Given the description of an element on the screen output the (x, y) to click on. 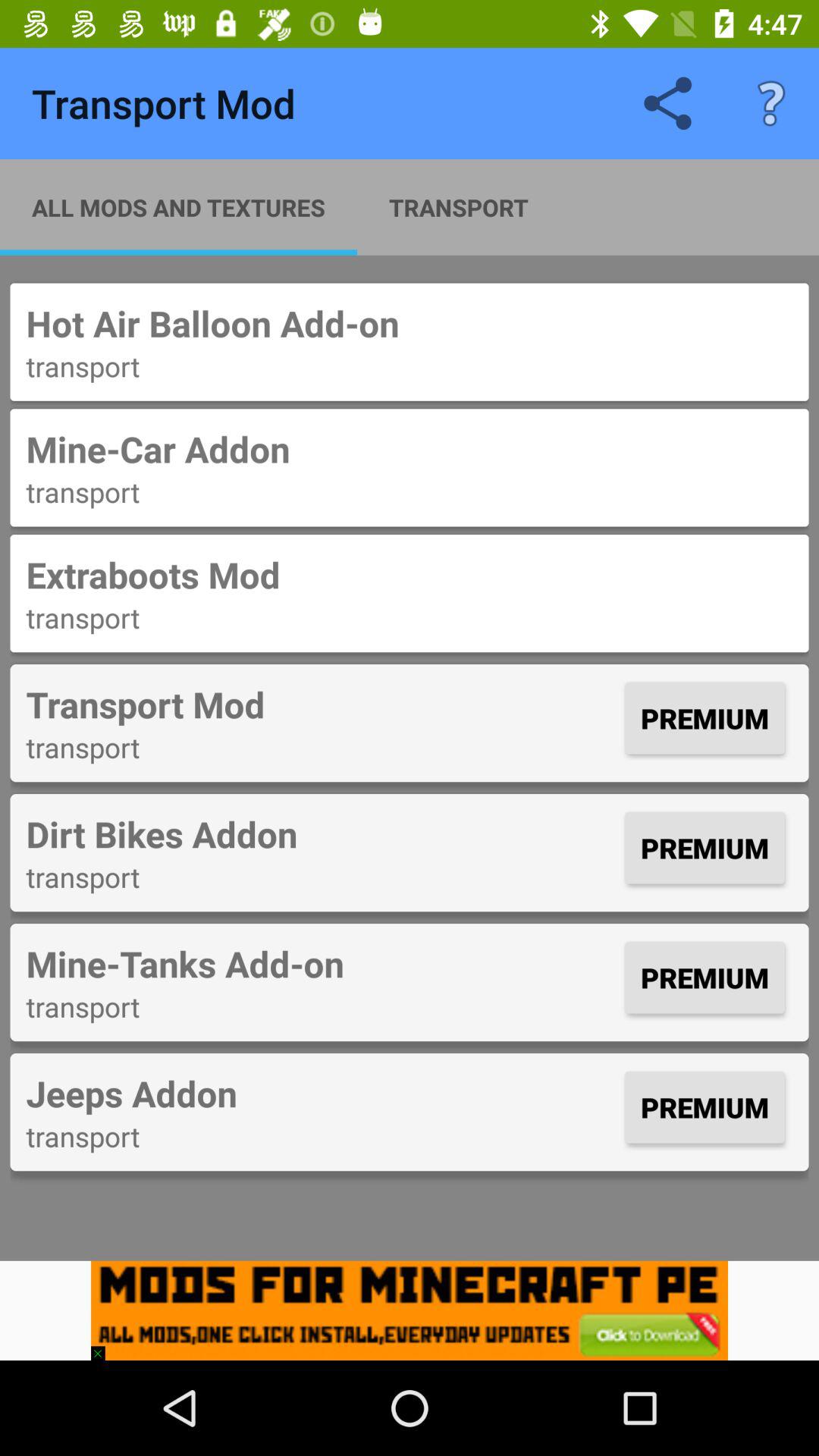
press app below all mods and (409, 323)
